Given the description of an element on the screen output the (x, y) to click on. 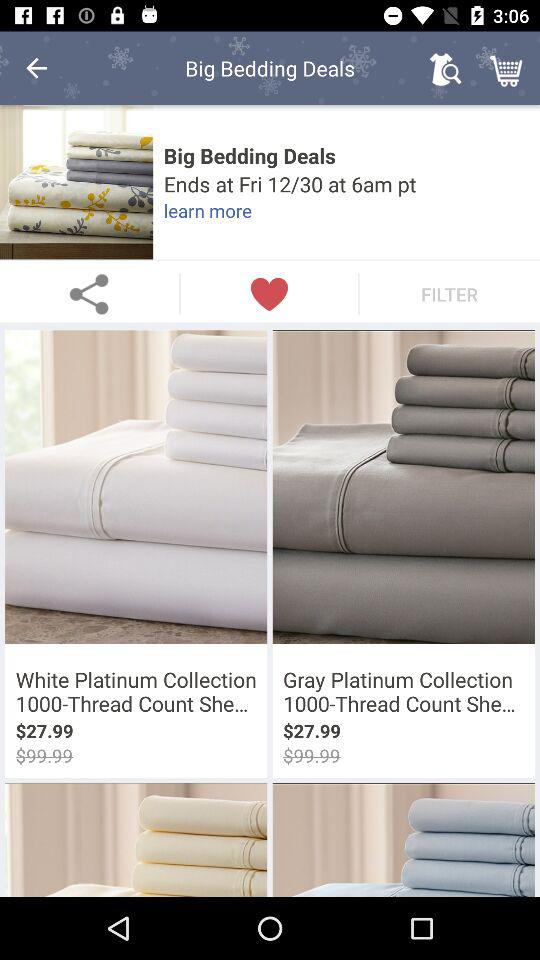
click to share (89, 294)
